Given the description of an element on the screen output the (x, y) to click on. 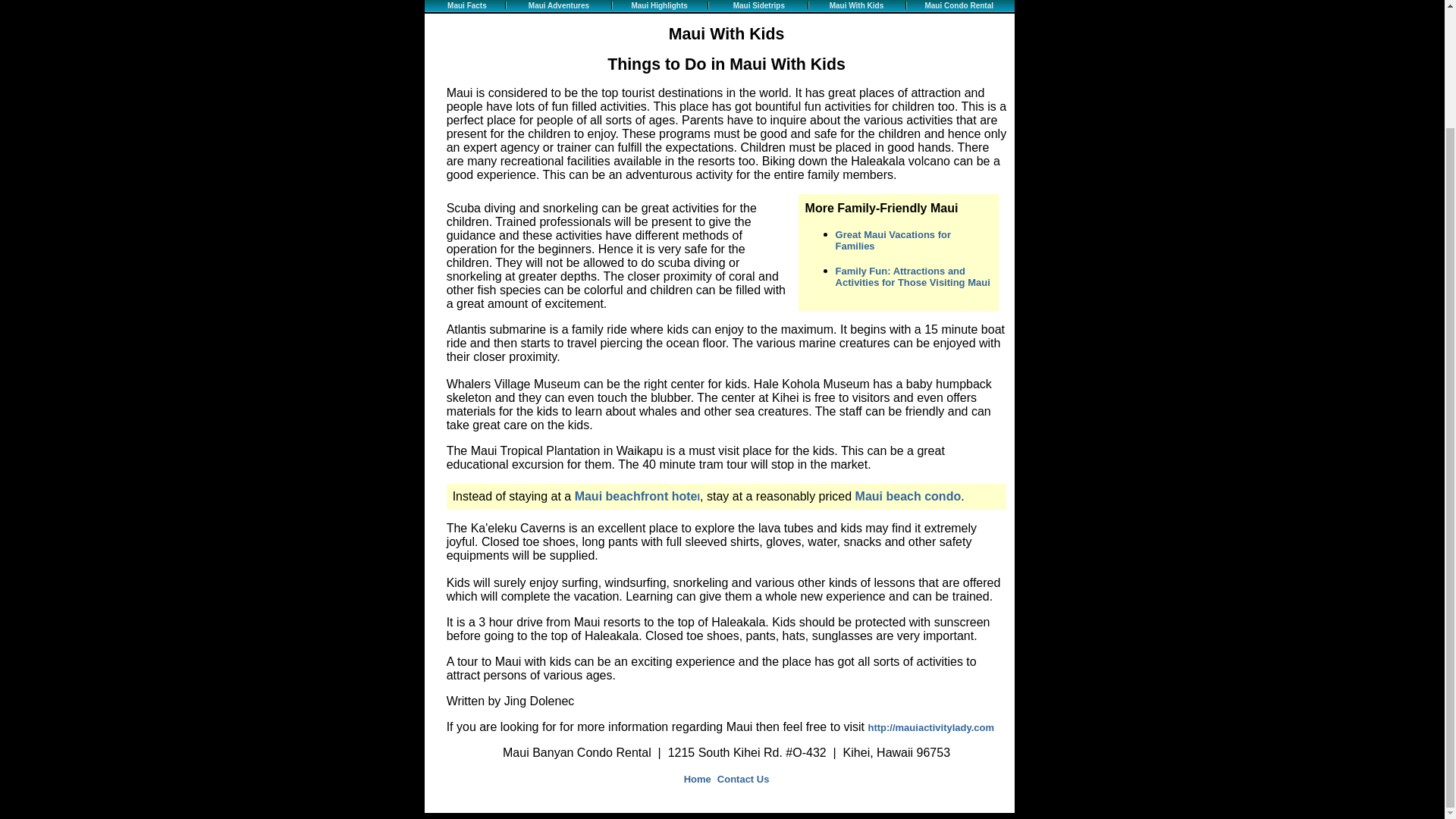
Maui Condo Rental (958, 5)
Maui Adventures (558, 5)
Home  (699, 778)
Maui Highlights (658, 5)
Maui Sidetrips (758, 5)
Maui beachfront hotel (637, 496)
Maui Facts (466, 5)
Maui With Kids (856, 5)
Maui beach condo (908, 496)
Great Maui Vacations for Families  (892, 240)
Contact Us (743, 778)
